Given the description of an element on the screen output the (x, y) to click on. 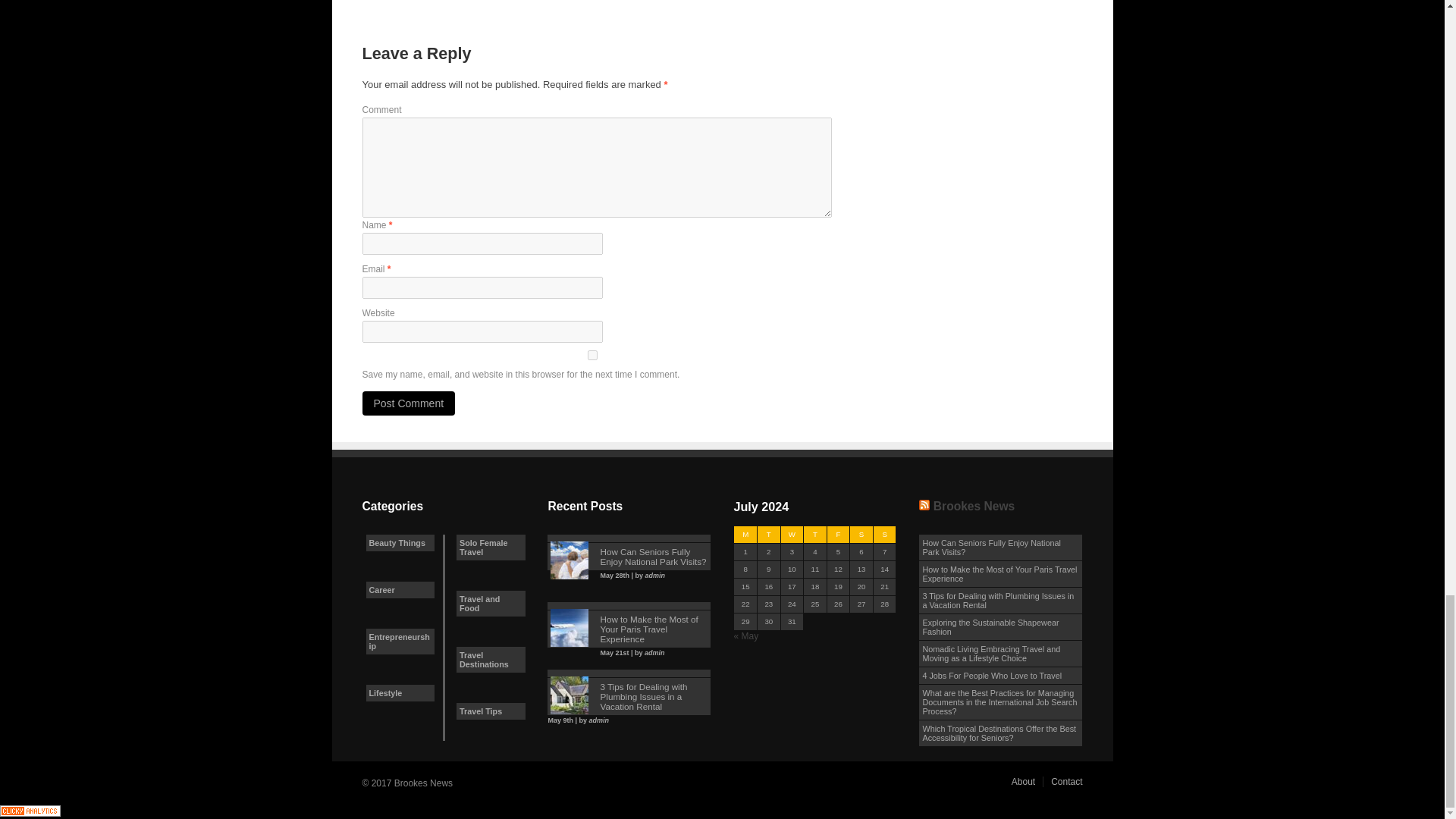
Post Comment (408, 403)
Post Comment (408, 403)
yes (593, 355)
